Given the description of an element on the screen output the (x, y) to click on. 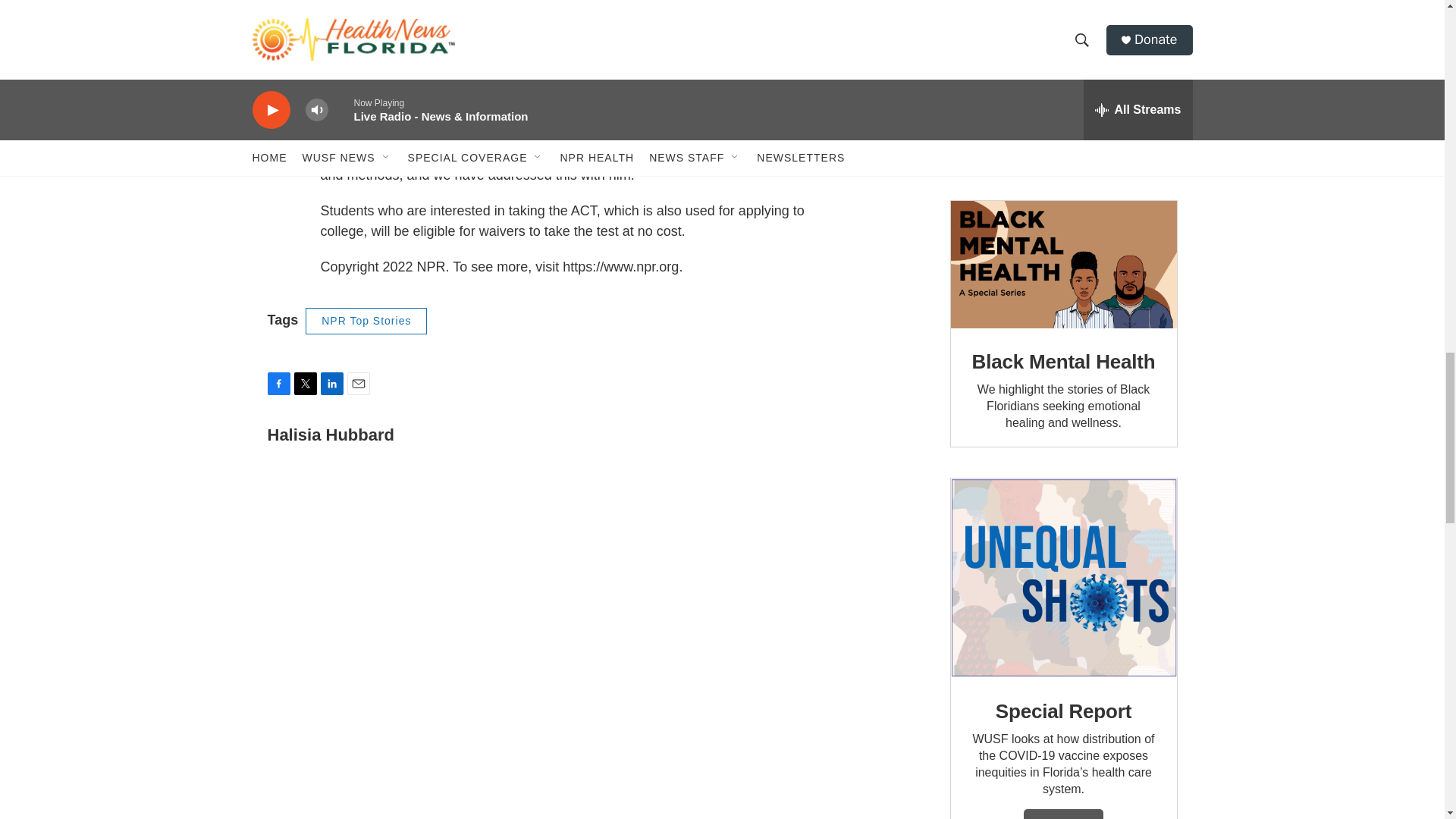
3rd party ad content (1062, 84)
